Given the description of an element on the screen output the (x, y) to click on. 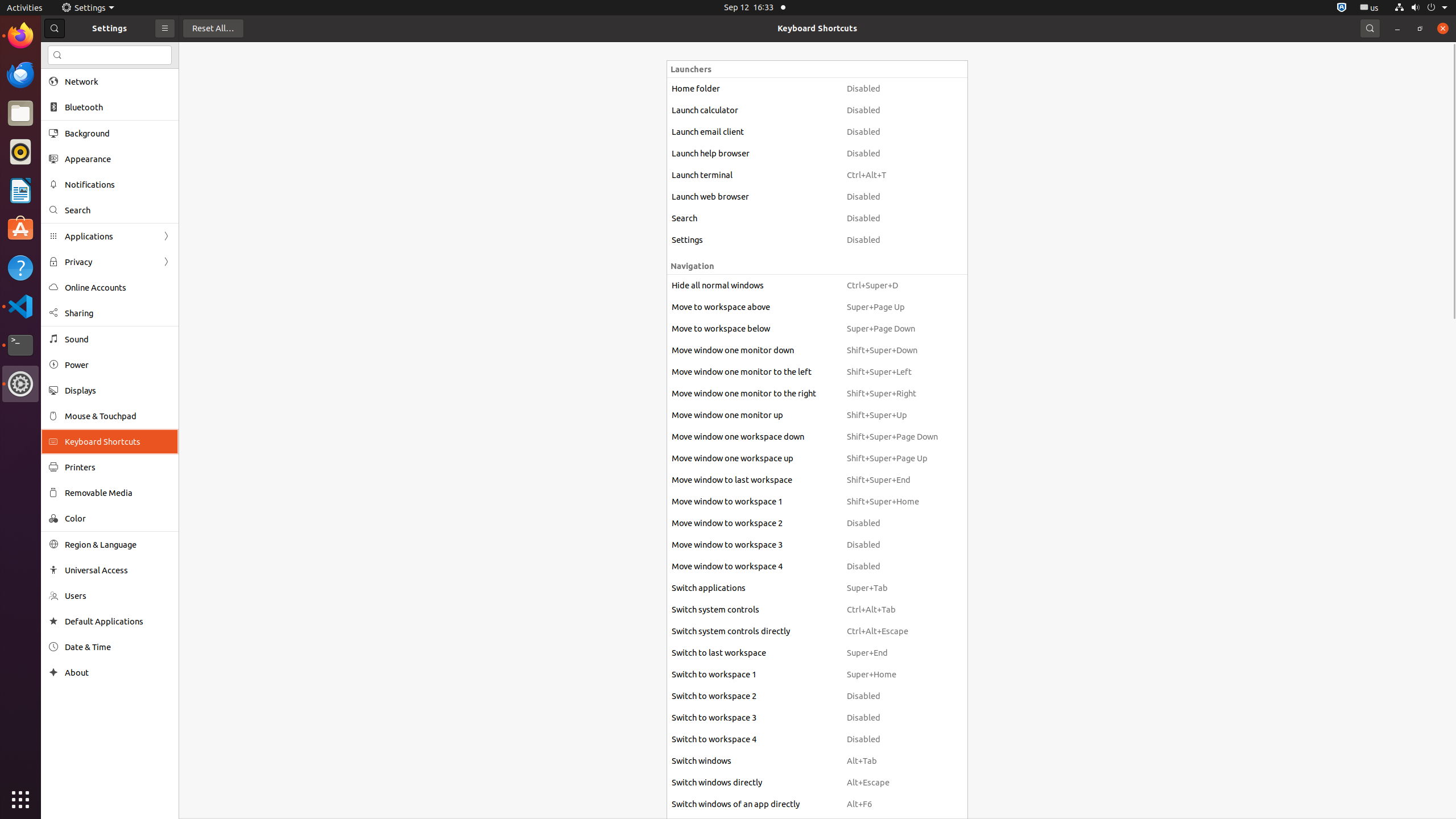
Notifications Element type: label (117, 184)
Launch terminal Element type: label (753, 174)
Alt+F6 Element type: label (891, 803)
Shift+Super+Left Element type: label (891, 371)
